Given the description of an element on the screen output the (x, y) to click on. 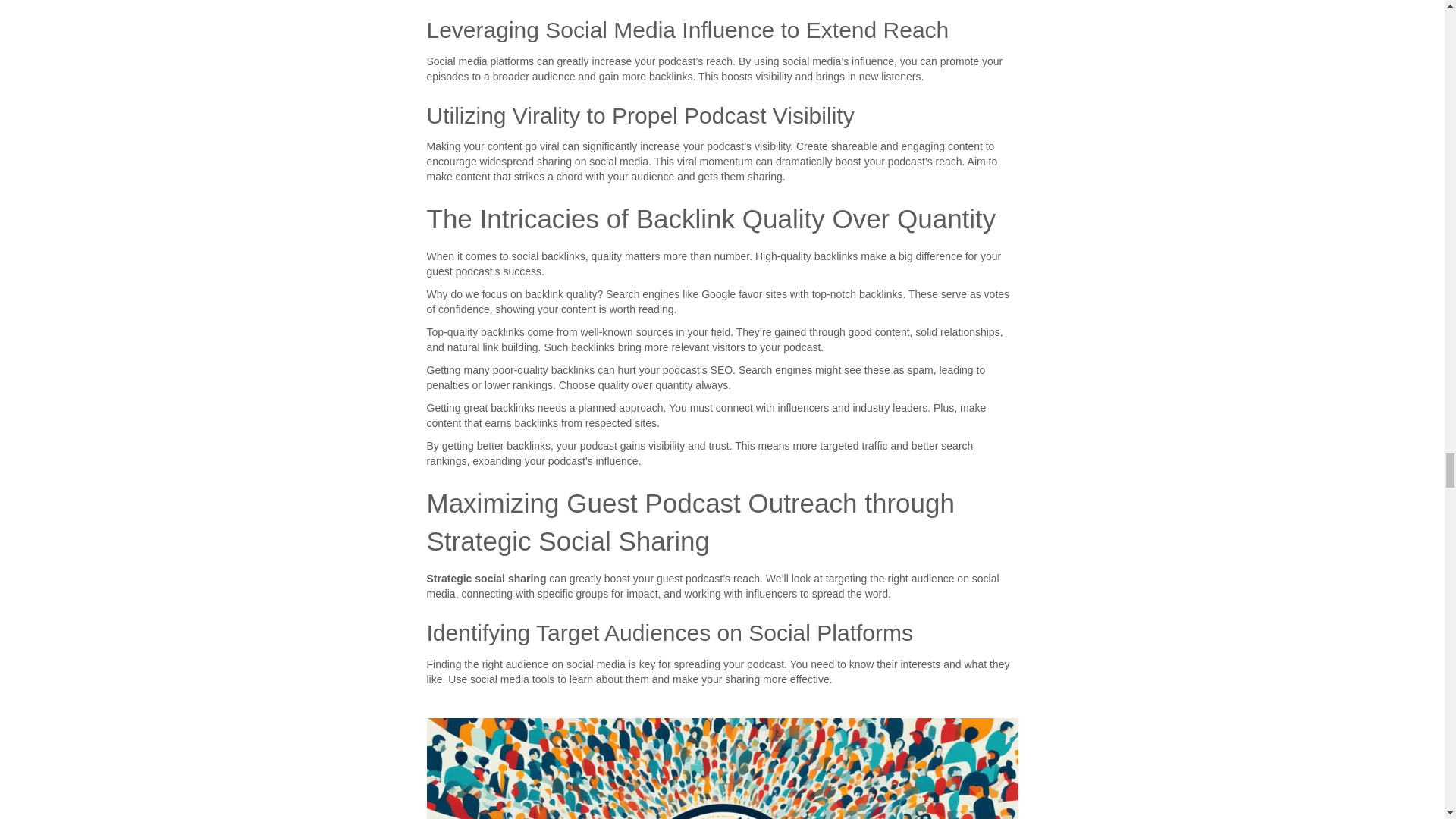
identifying target audience for podcast promotion (721, 768)
